Given the description of an element on the screen output the (x, y) to click on. 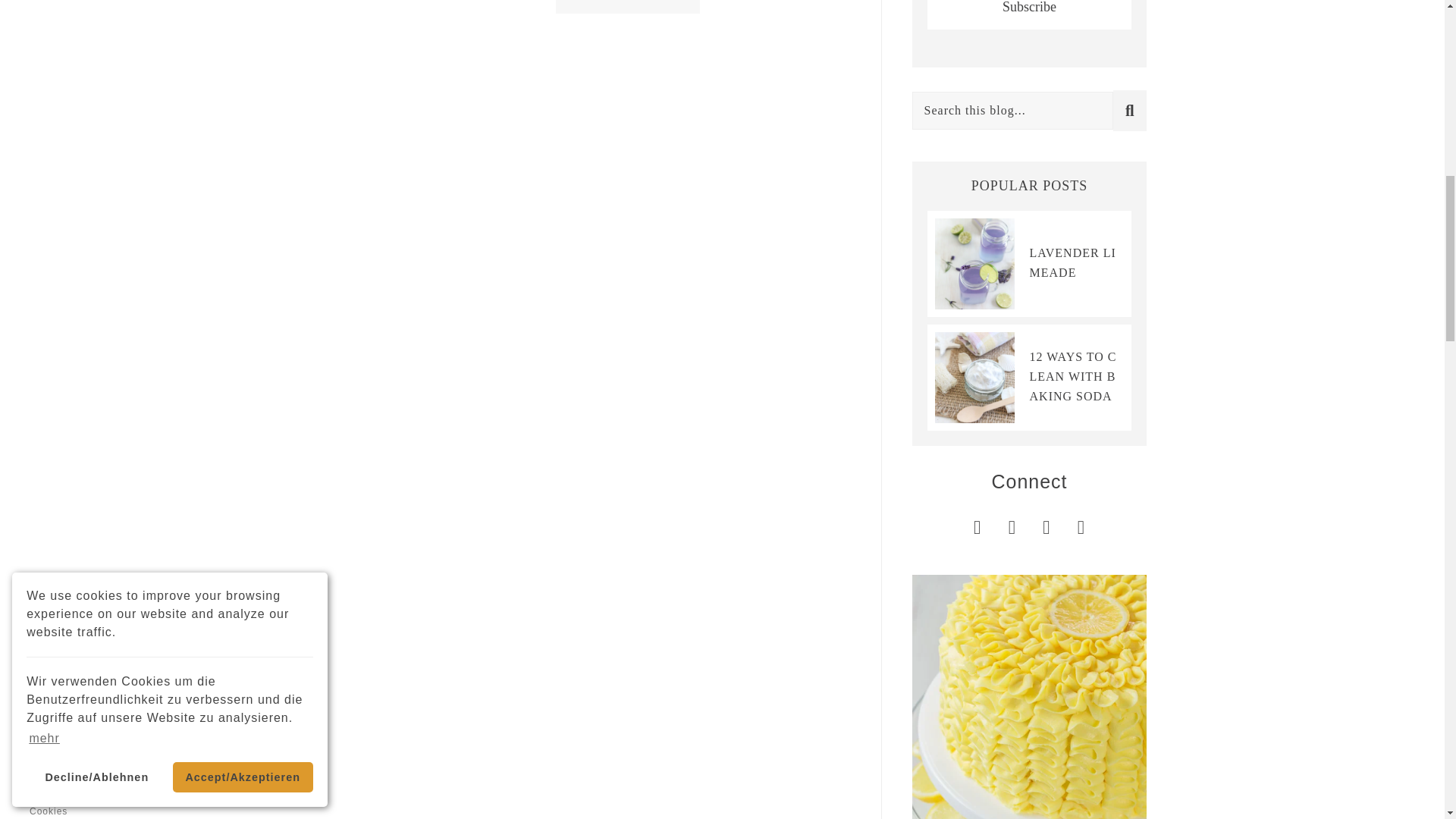
Lavender Limeade (1072, 262)
12 Ways to Clean with Baking Soda (1072, 376)
